Given the description of an element on the screen output the (x, y) to click on. 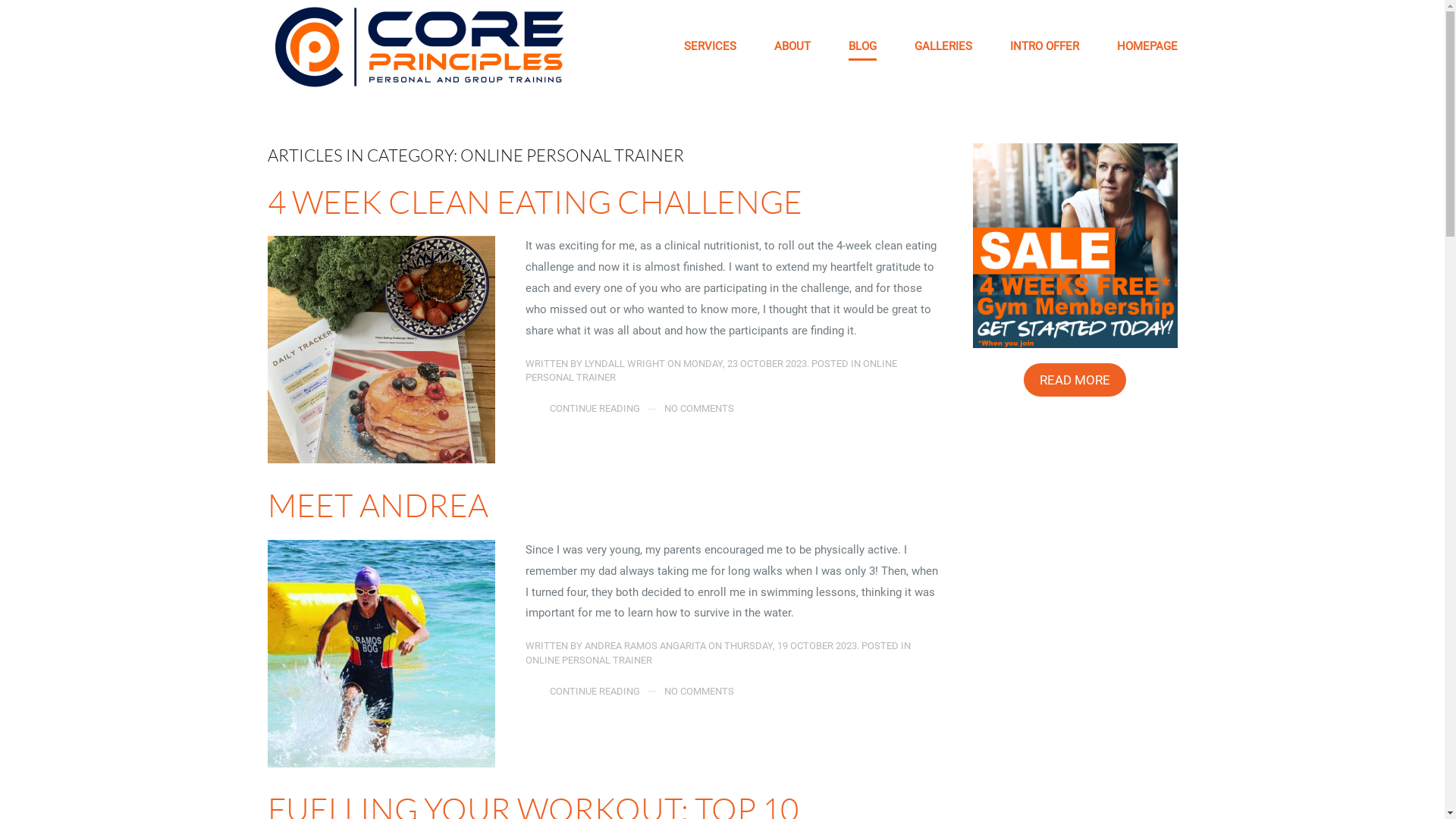
ONLINE PERSONAL TRAINER Element type: text (710, 369)
CONTINUE READING Element type: text (594, 691)
4 week clean eating challenge Element type: hover (380, 349)
BLOG Element type: text (861, 46)
NO COMMENTS Element type: text (699, 691)
Meet Andrea Element type: hover (380, 652)
ANDREA RAMOS ANGARITA Element type: text (644, 645)
ABOUT Element type: text (791, 46)
LYNDALL WRIGHT Element type: text (623, 363)
MEET ANDREA Element type: text (376, 504)
SERVICES Element type: text (710, 46)
GALLERIES Element type: text (943, 46)
4 WEEK CLEAN EATING CHALLENGE Element type: text (533, 201)
ONLINE PERSONAL TRAINER Element type: text (587, 659)
READ MORE Element type: text (1074, 379)
CONTINUE READING Element type: text (594, 408)
HOMEPAGE Element type: text (1146, 46)
4 week clean eating challenge Element type: hover (380, 348)
Meet Andrea Element type: hover (380, 653)
INTRO OFFER Element type: text (1044, 46)
NO COMMENTS Element type: text (699, 408)
